Given the description of an element on the screen output the (x, y) to click on. 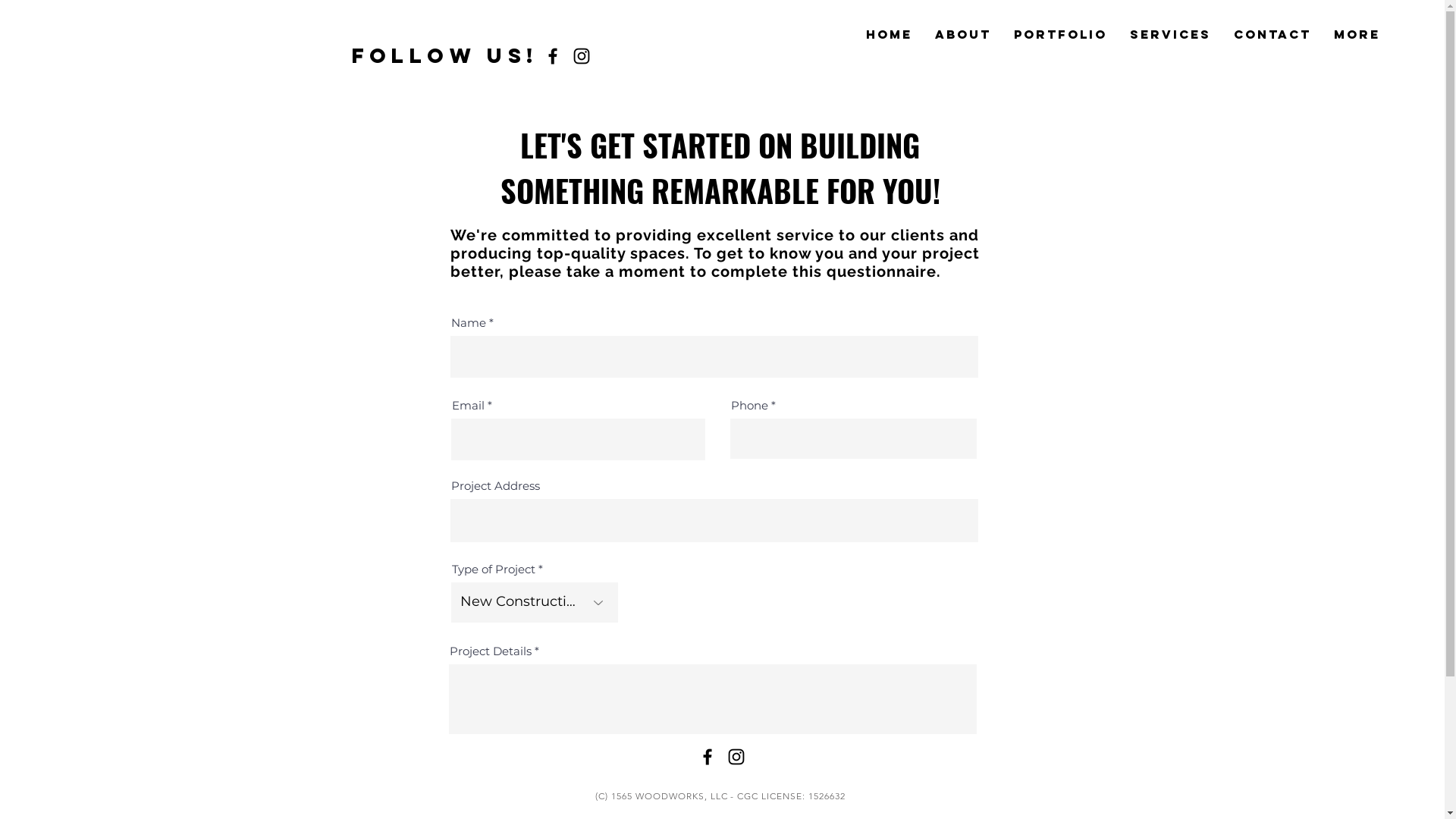
HOME Element type: text (888, 34)
PORTFOLIO Element type: text (1060, 34)
SERVICES Element type: text (1170, 34)
(C) 1565 WOODWORKS, LLC - CGC LICENSE: 1526632 Element type: text (719, 795)
CONTACT Element type: text (1272, 34)
ABOUT Element type: text (962, 34)
